Given the description of an element on the screen output the (x, y) to click on. 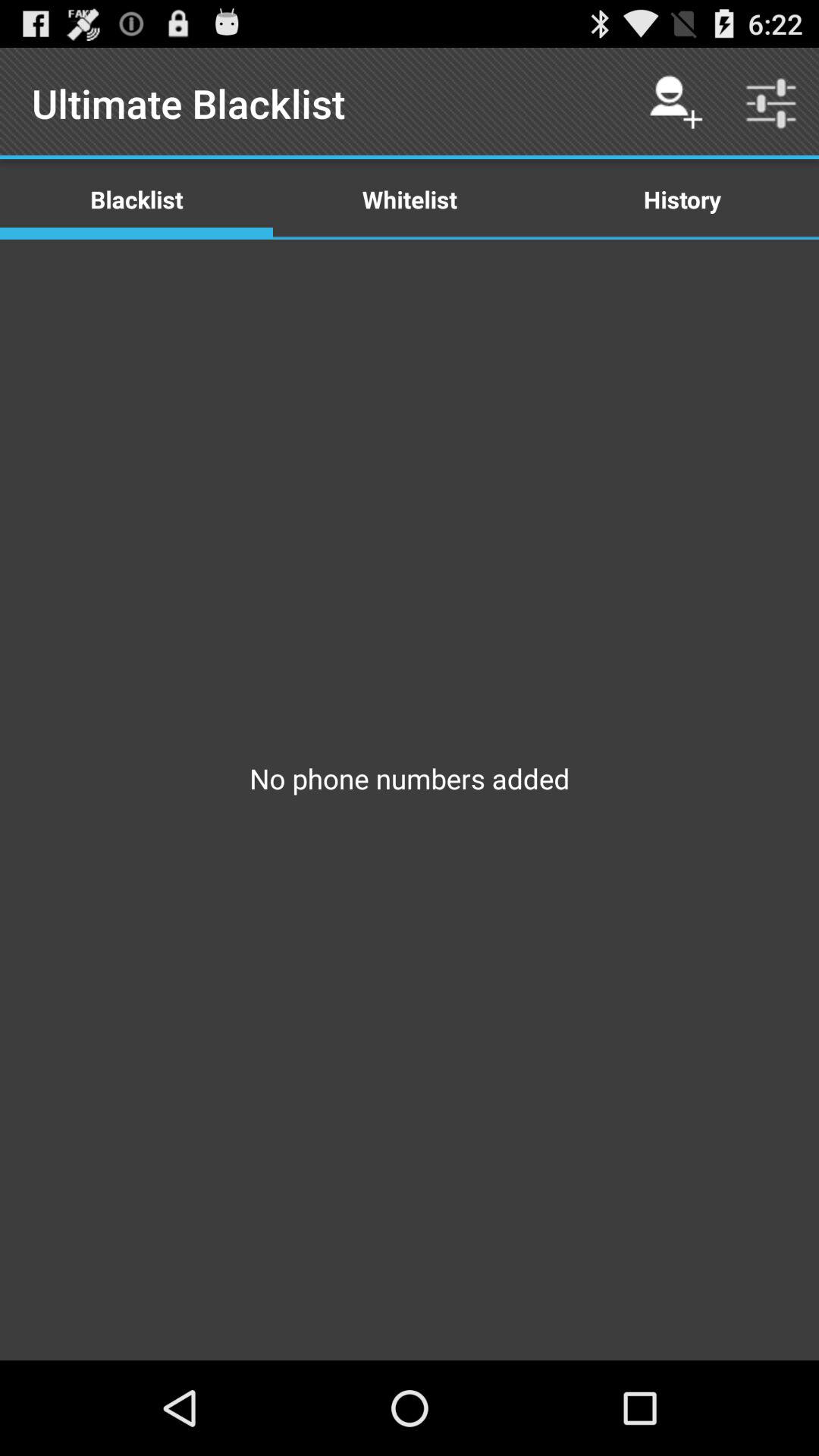
select icon above the no phone numbers icon (682, 199)
